Given the description of an element on the screen output the (x, y) to click on. 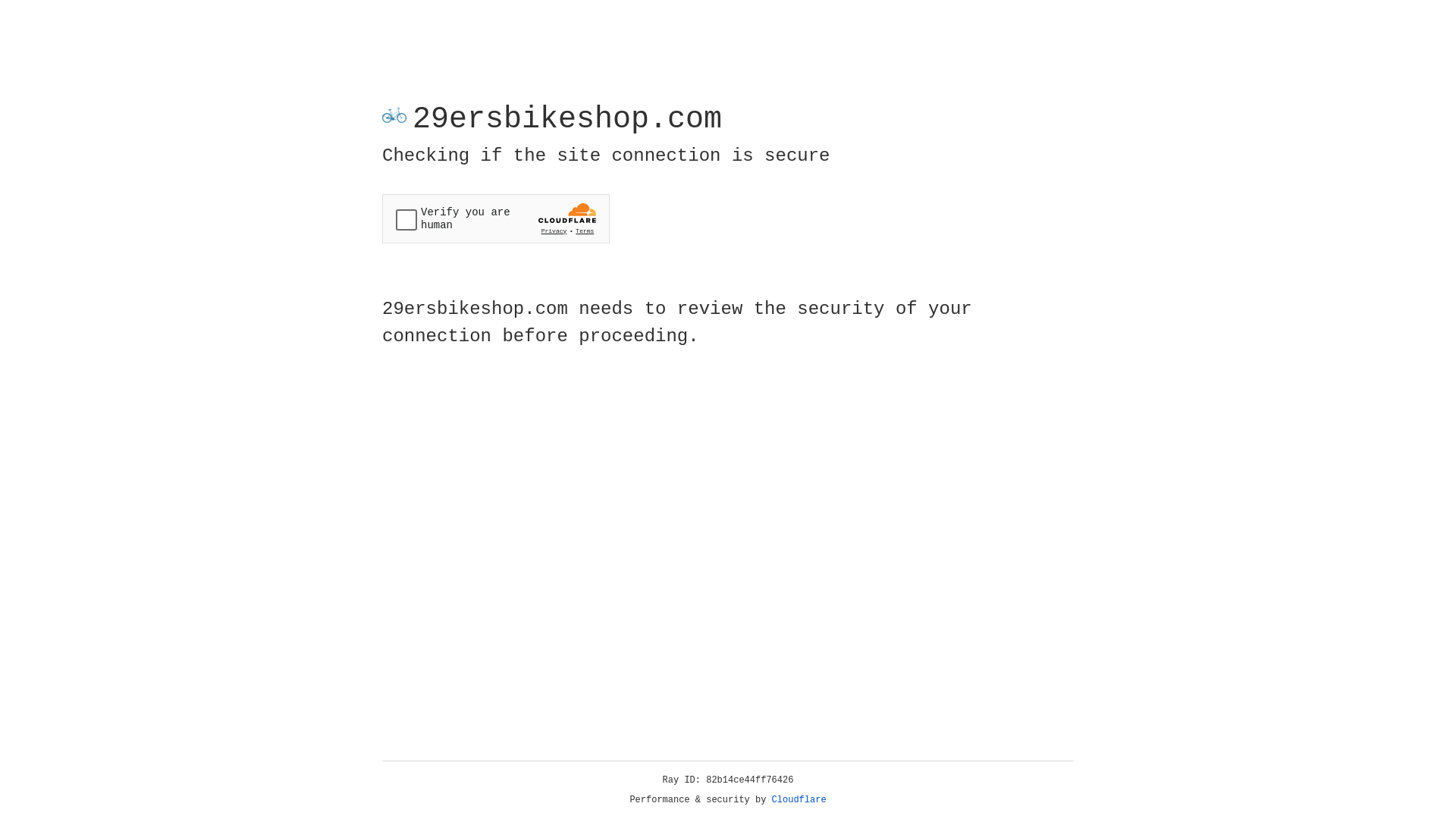
Widget containing a Cloudflare security challenge Element type: hover (495, 218)
Cloudflare Element type: text (798, 799)
